Given the description of an element on the screen output the (x, y) to click on. 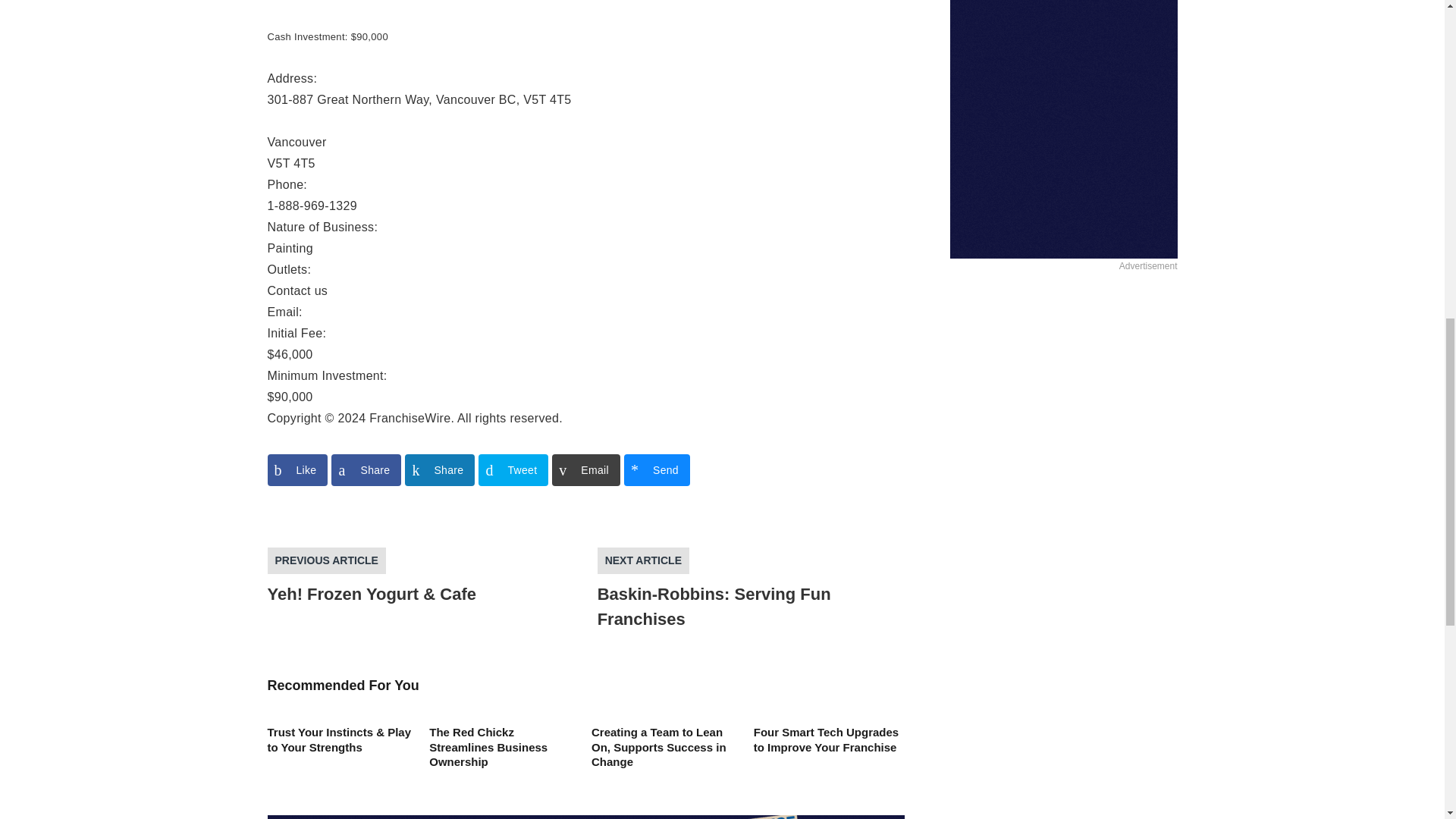
Share on Email (585, 470)
Share on Share (439, 470)
Like (296, 470)
Share on Tweet (513, 470)
Share on Like (296, 470)
Share on Send (657, 470)
Share on Share (366, 470)
